Given the description of an element on the screen output the (x, y) to click on. 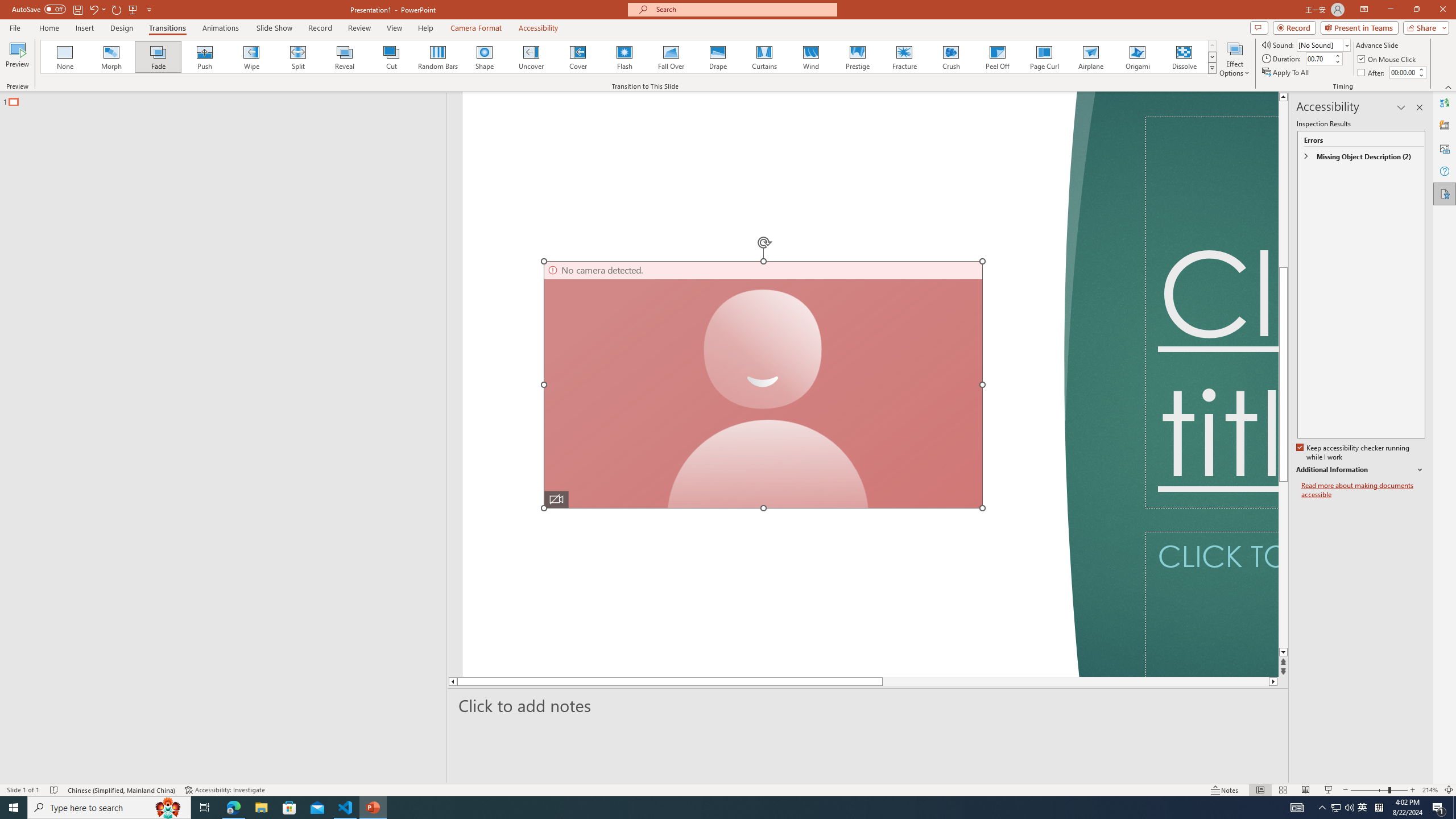
Wipe (251, 56)
Slide Notes (868, 705)
Fall Over (670, 56)
AutomationID: AnimationTransitionGallery (628, 56)
Airplane (1090, 56)
Prestige (857, 56)
Drape (717, 56)
